Given the description of an element on the screen output the (x, y) to click on. 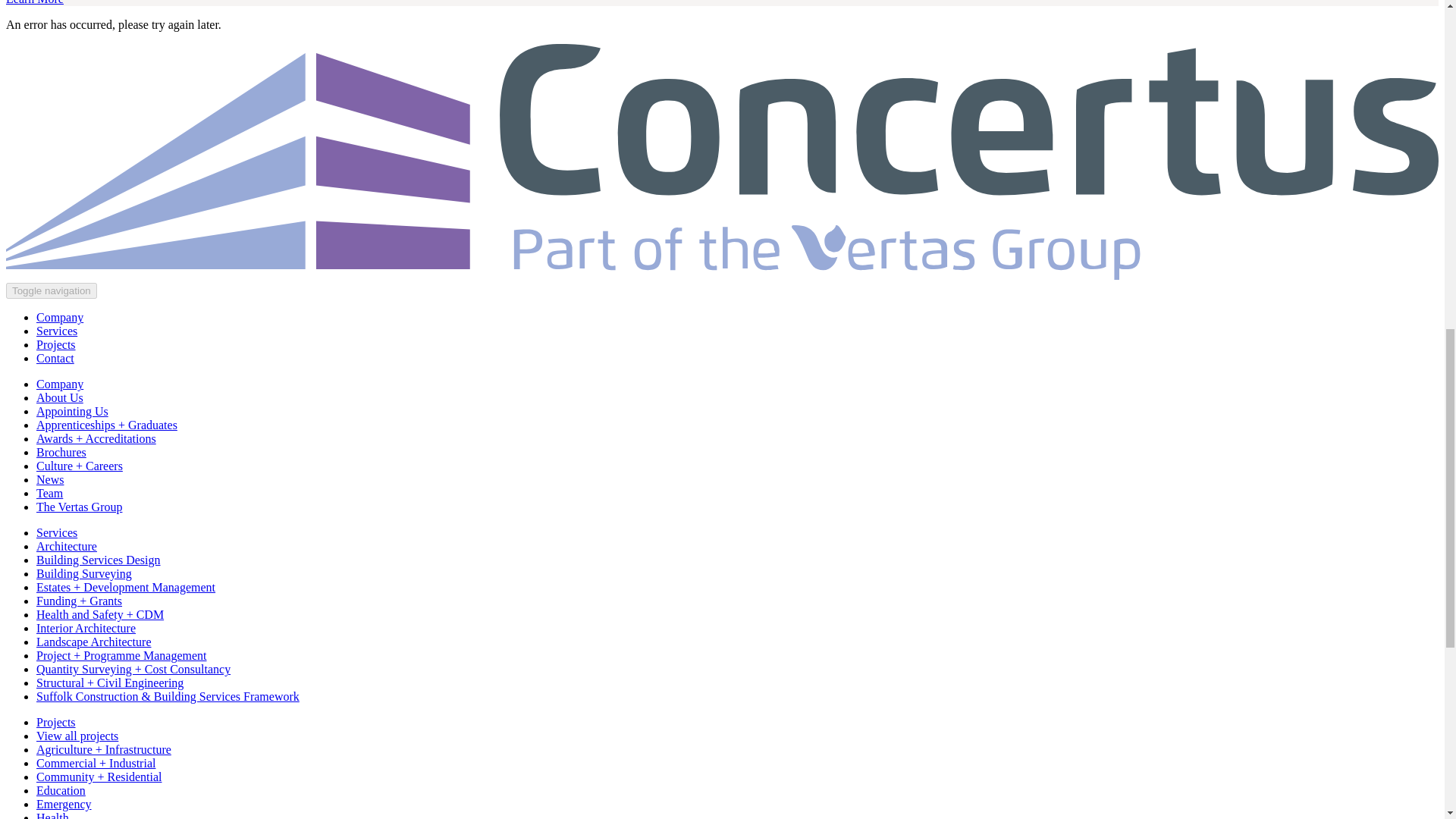
Brochures (60, 451)
Toggle navigation (51, 290)
Building Services Design (98, 559)
About Us (59, 397)
Building Surveying (84, 573)
Company (59, 383)
News (50, 479)
The Vertas Group (79, 506)
Company (59, 317)
Services (56, 532)
